Given the description of an element on the screen output the (x, y) to click on. 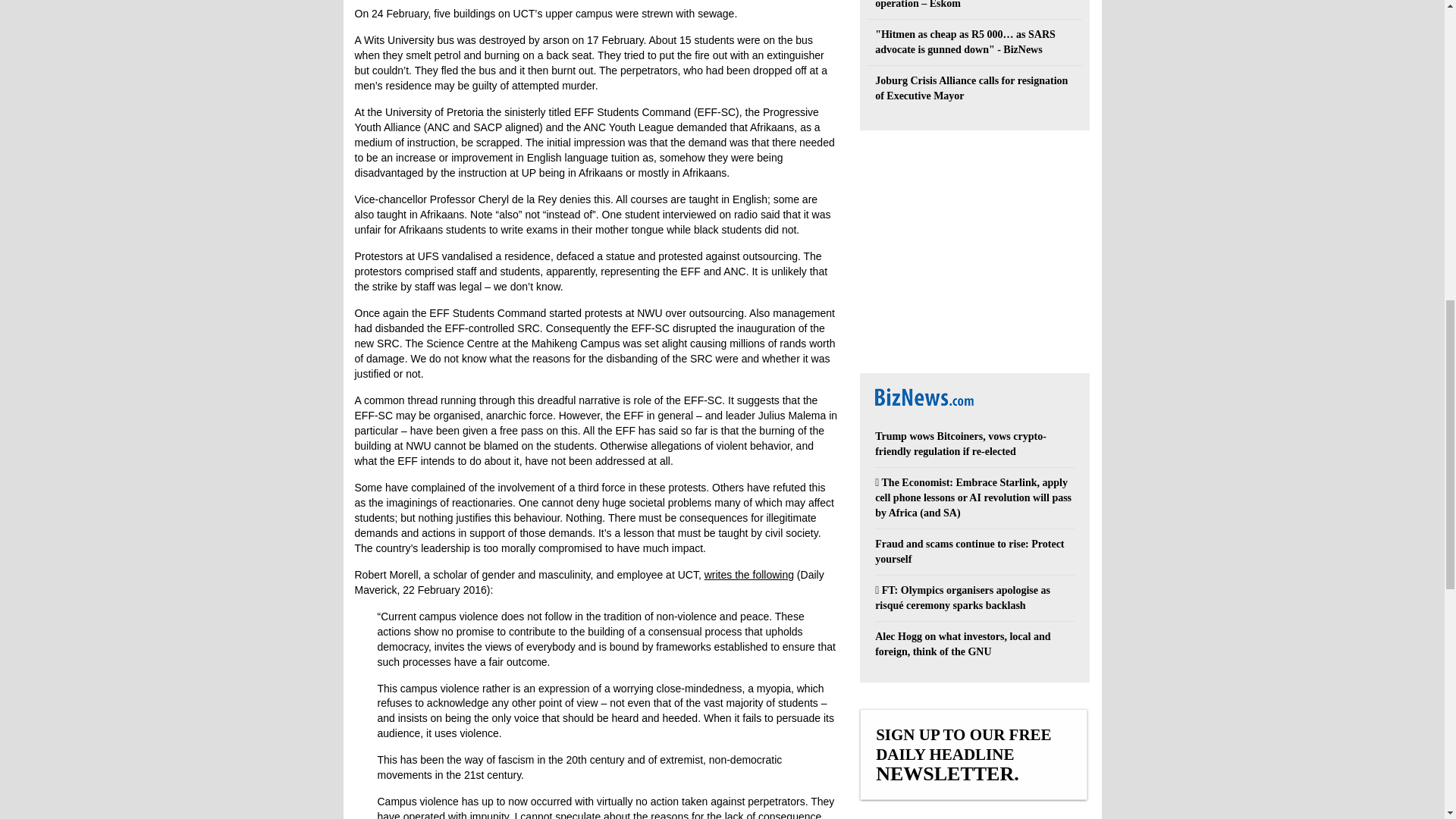
writes the following (748, 574)
